Given the description of an element on the screen output the (x, y) to click on. 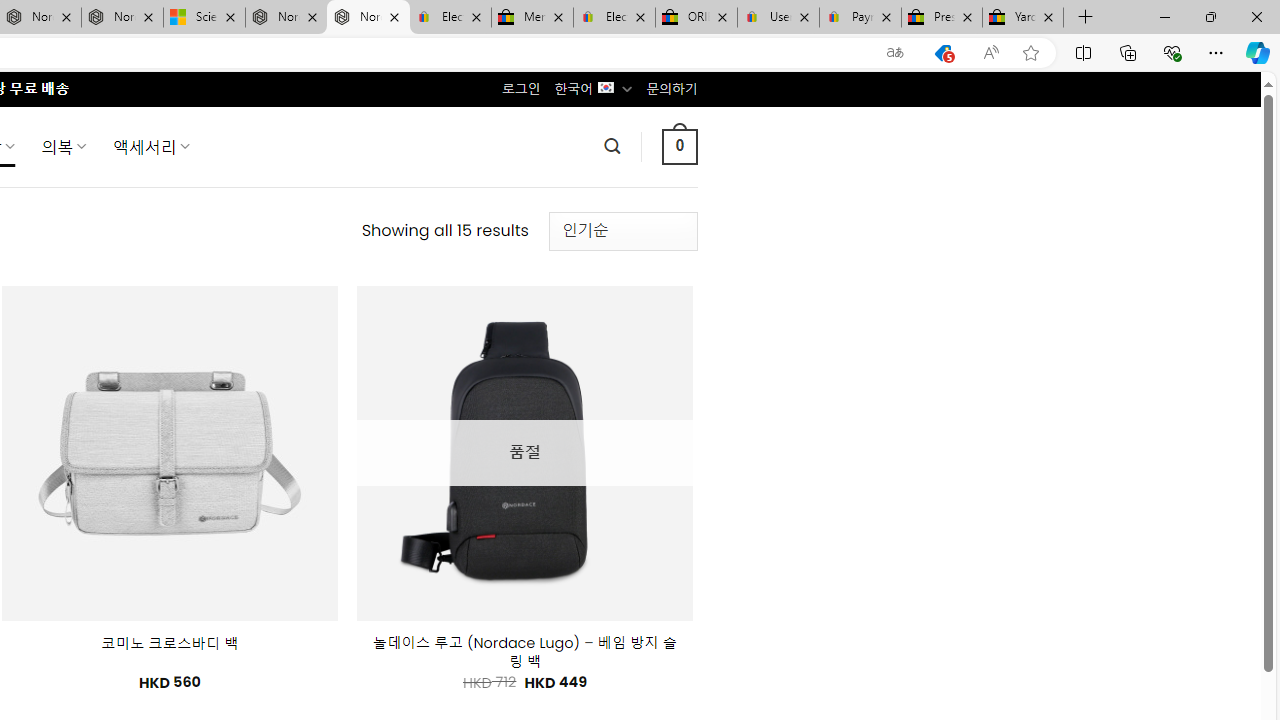
This site has coupons! Shopping in Microsoft Edge, 5 (943, 53)
Electronics, Cars, Fashion, Collectibles & More | eBay (614, 17)
Press Room - eBay Inc. (941, 17)
